Given the description of an element on the screen output the (x, y) to click on. 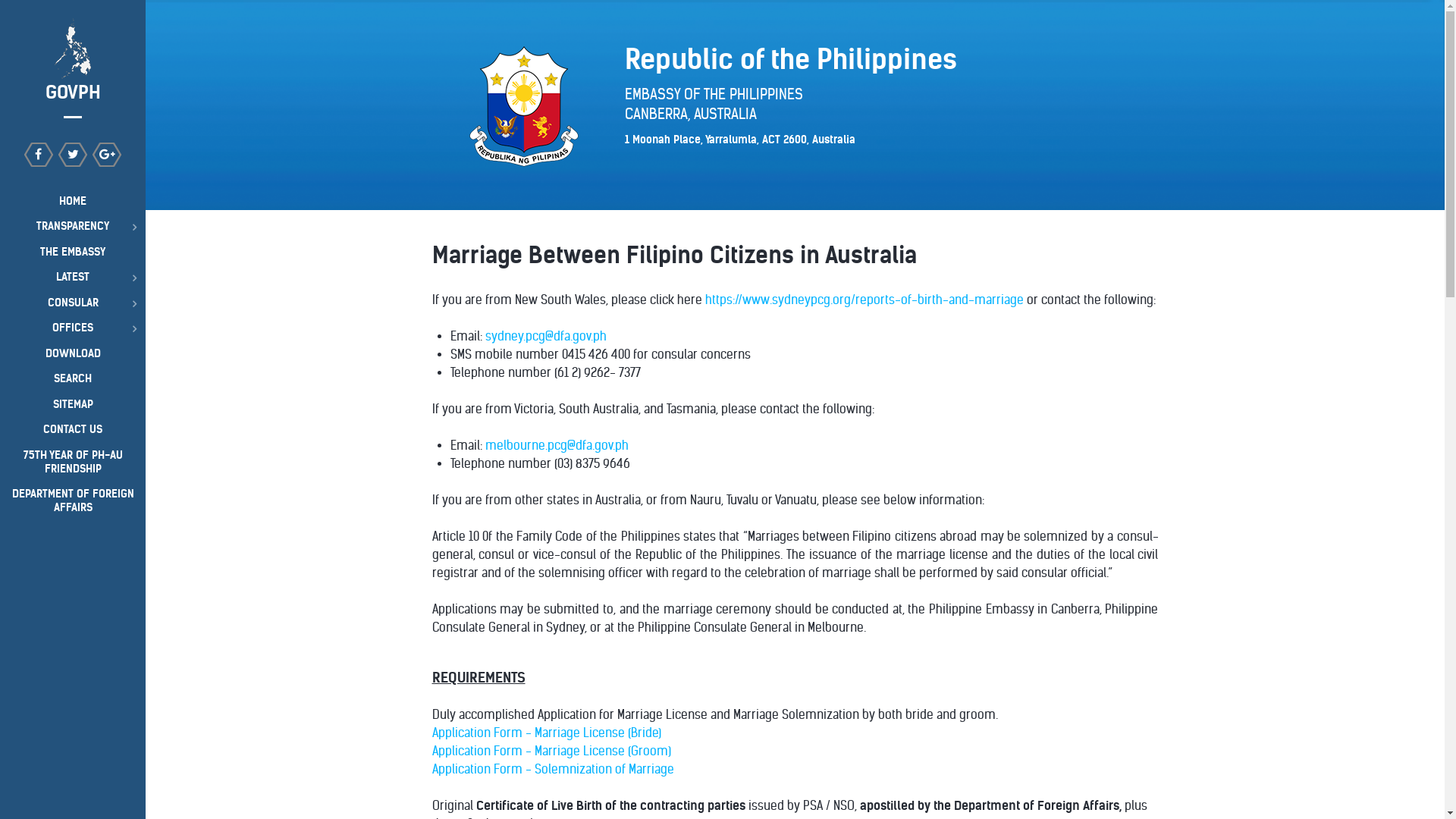
GOVPH Element type: text (72, 62)
sydney.pcg@dfa.gov.ph Element type: text (545, 336)
SEARCH Element type: text (72, 378)
Application Form - Marriage License (Bride) Element type: text (546, 732)
https://www.sydneypcg.org/reports-of-birth-and-marriage Element type: text (864, 299)
THE EMBASSY Element type: text (72, 251)
CONTACT US Element type: text (72, 429)
SITEMAP Element type: text (72, 404)
Application Form - Solemnization of Marriage Element type: text (553, 769)
melbourne.pcg@dfa.gov.ph Element type: text (556, 445)
DOWNLOAD Element type: text (72, 353)
HOME Element type: text (72, 200)
75TH YEAR OF PH-AU FRIENDSHIP Element type: text (72, 461)
Application Form - Marriage License (Groom) Element type: text (551, 750)
DEPARTMENT OF FOREIGN AFFAIRS Element type: text (72, 500)
